Given the description of an element on the screen output the (x, y) to click on. 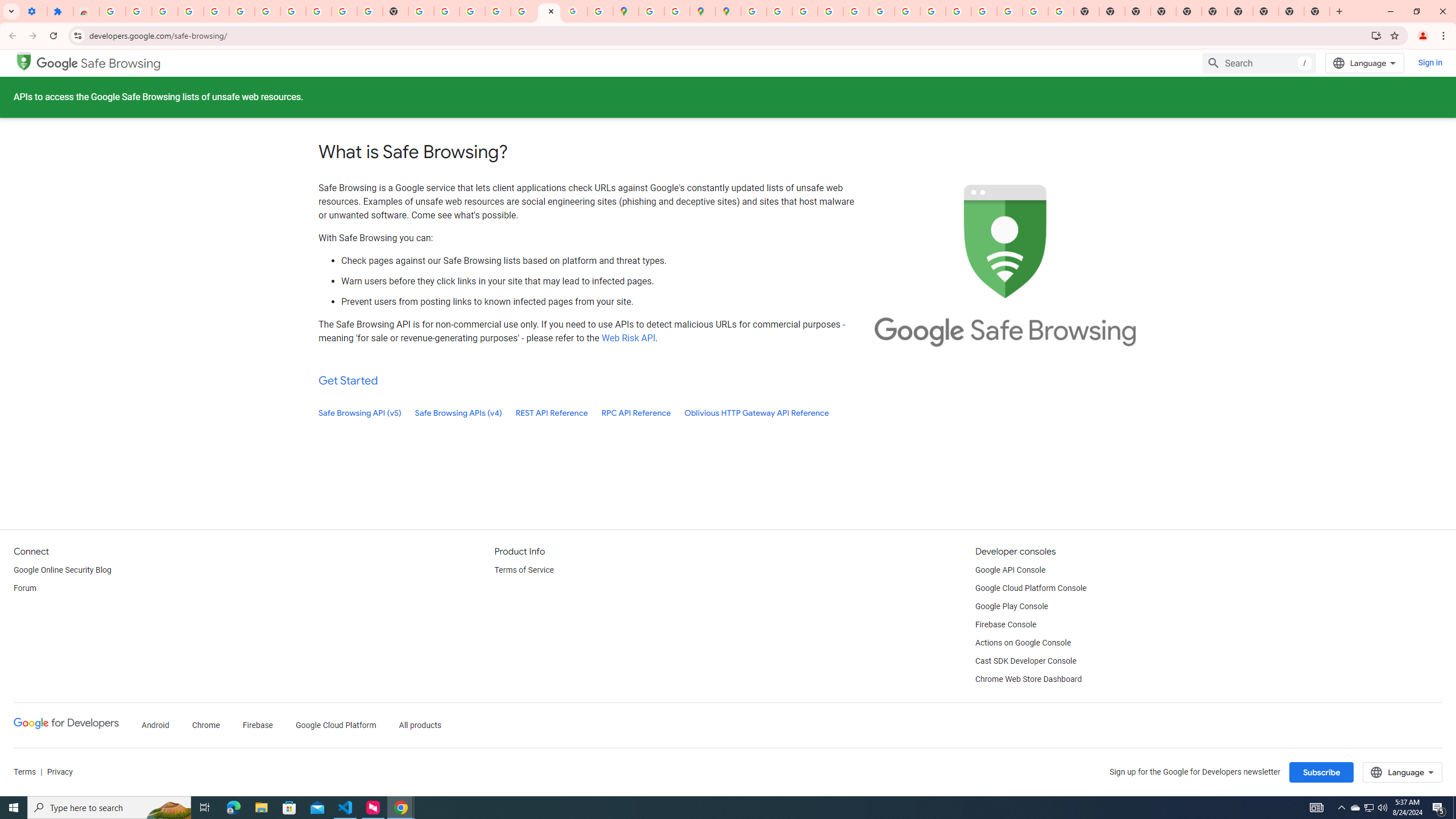
Google (57, 63)
Firebase (257, 725)
Android (154, 725)
Google Safe Browsing (23, 60)
Install Google Developers (1376, 35)
Browse Chrome as a guest - Computer - Google Chrome Help (932, 11)
Language (1402, 772)
